Given the description of an element on the screen output the (x, y) to click on. 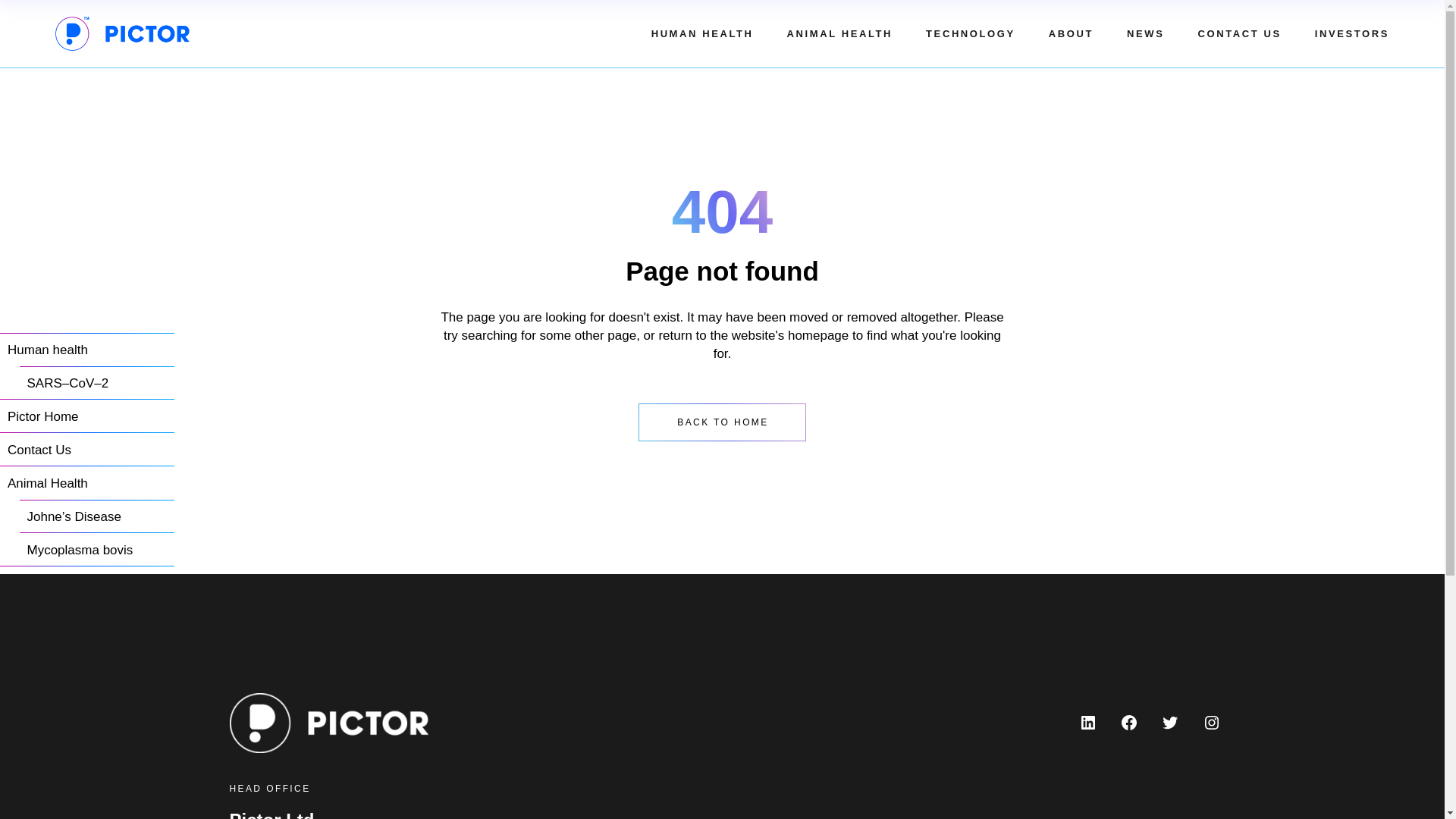
ANIMAL HEALTH (839, 33)
CONTACT US (1238, 33)
INVESTORS (1351, 33)
TECHNOLOGY (970, 33)
HUMAN HEALTH (702, 33)
